Given the description of an element on the screen output the (x, y) to click on. 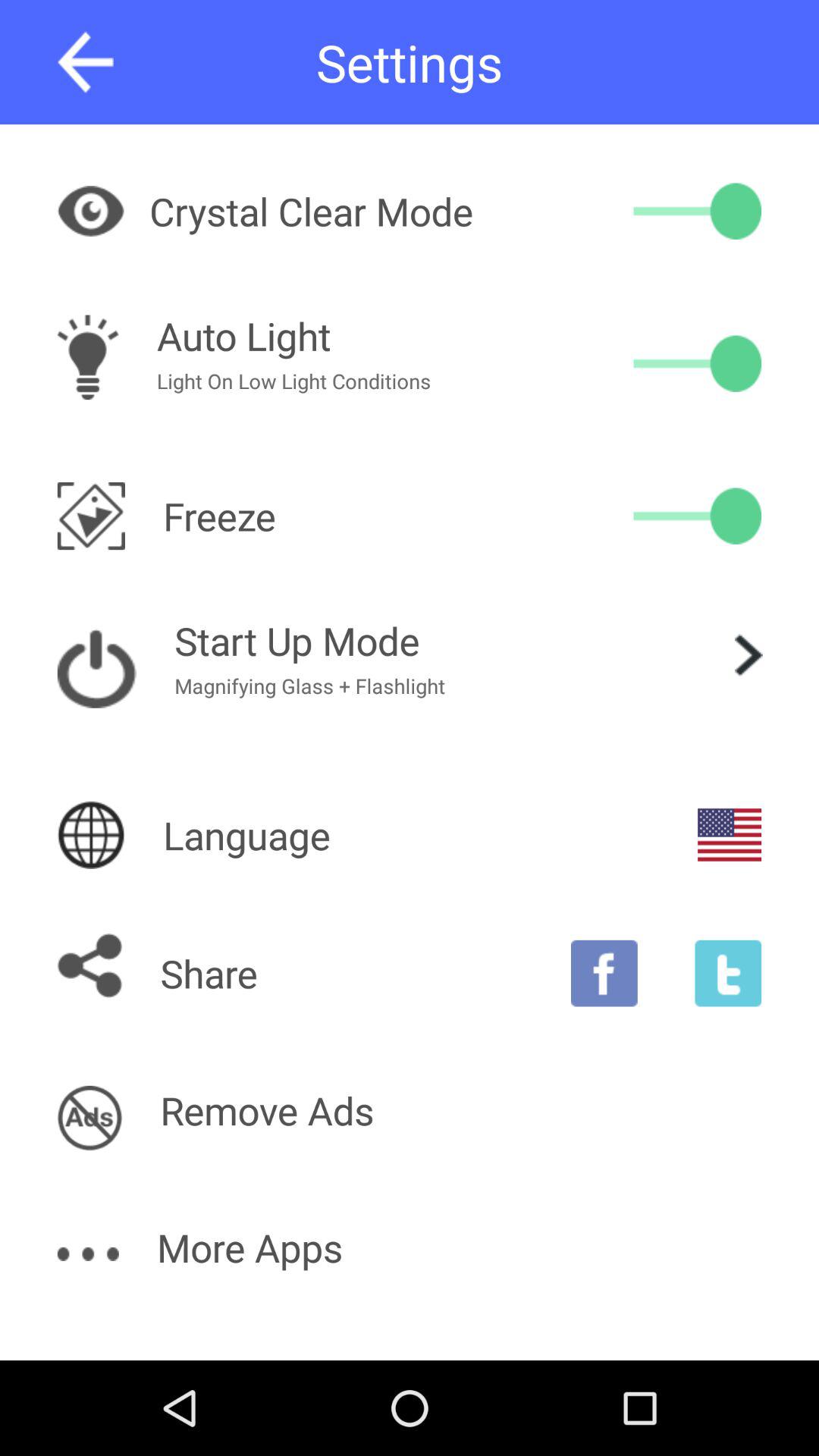
open the icon to the right of the light on low icon (697, 363)
